Given the description of an element on the screen output the (x, y) to click on. 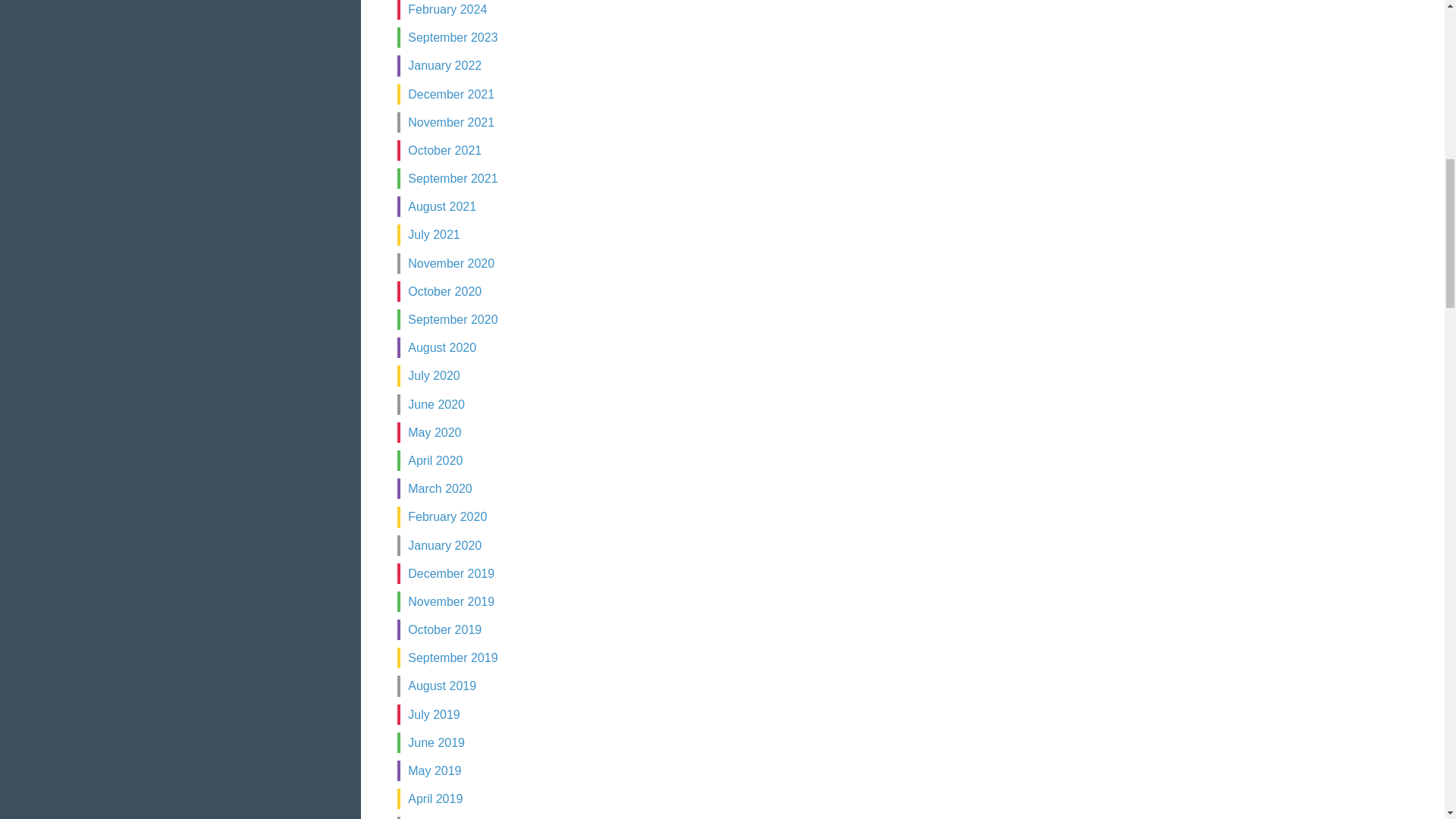
September 2020 (452, 318)
August 2020 (441, 347)
February 2020 (446, 516)
February 2024 (446, 9)
December 2019 (451, 573)
January 2020 (444, 545)
May 2020 (434, 431)
September 2021 (452, 178)
July 2021 (433, 234)
April 2020 (435, 460)
